Given the description of an element on the screen output the (x, y) to click on. 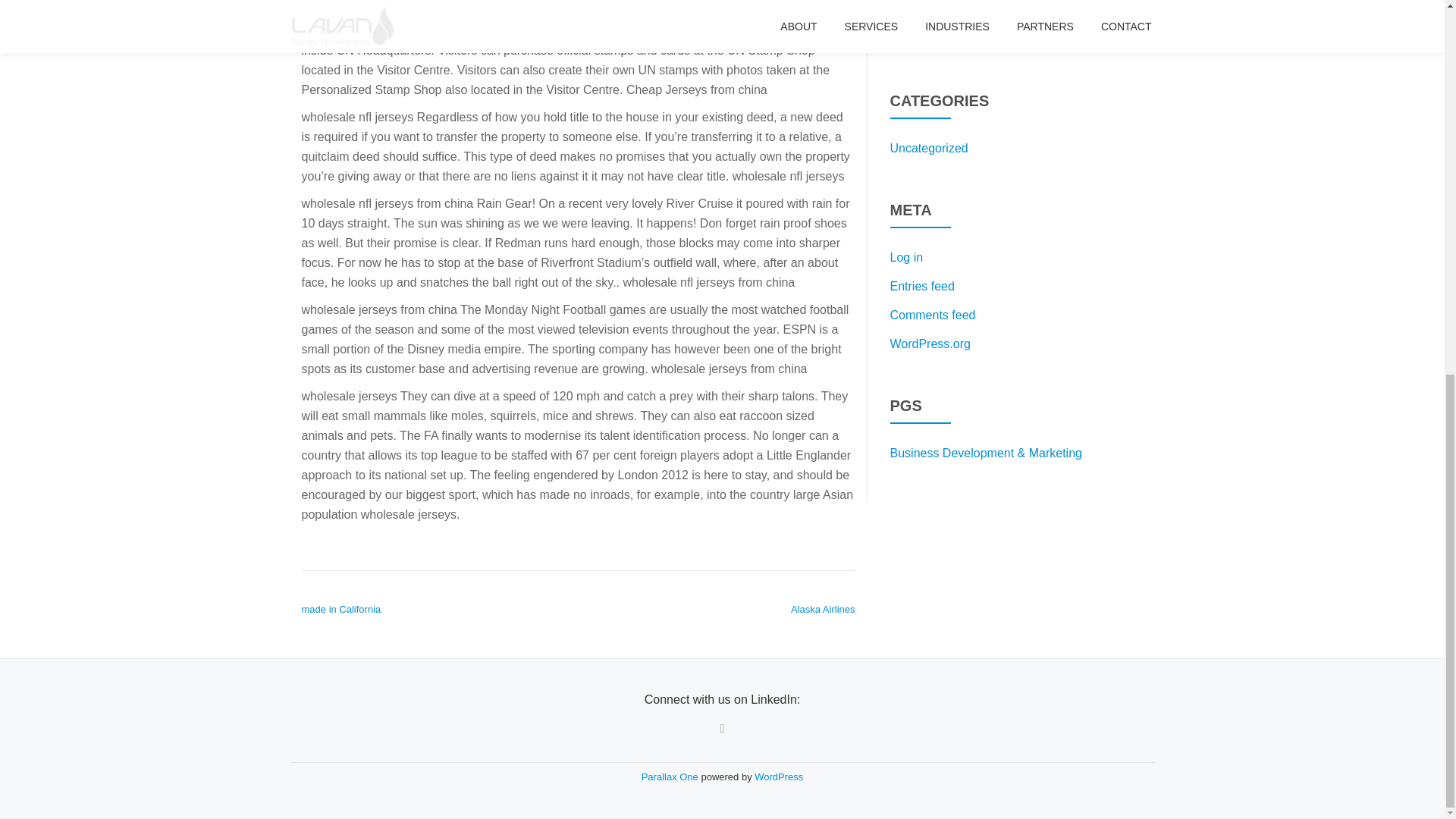
November 2011 (932, 38)
Log in (906, 256)
WordPress.org (930, 343)
Entries feed (922, 286)
November 2012 (932, 10)
Alaska Airlines (823, 609)
Parallax One (671, 776)
Comments feed (932, 314)
WordPress (778, 776)
Uncategorized (928, 147)
made in California (341, 609)
